Given the description of an element on the screen output the (x, y) to click on. 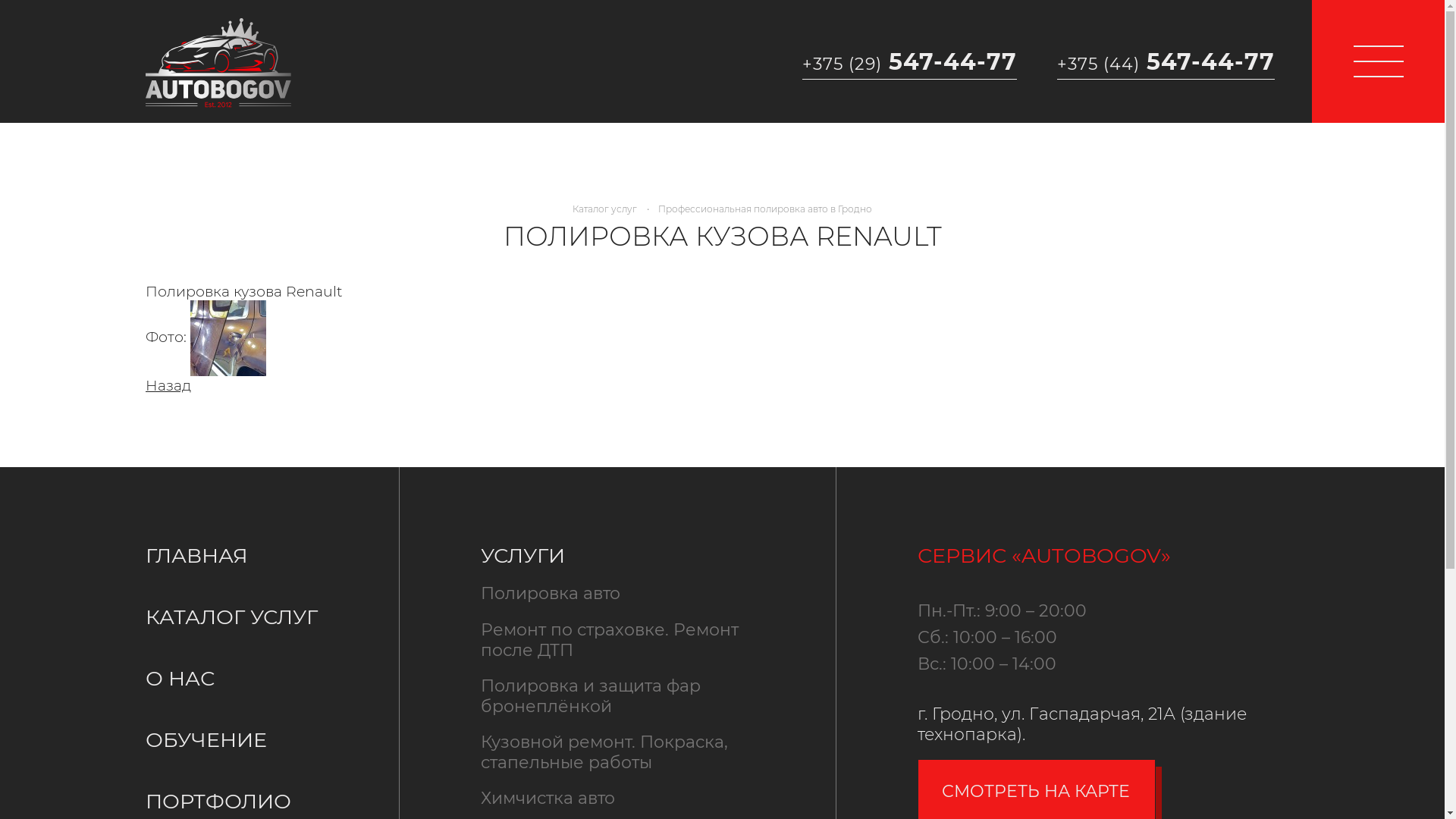
+375 (44) 547-44-77 Element type: text (1165, 61)
+375 (29) 547-44-77 Element type: text (909, 61)
